Given the description of an element on the screen output the (x, y) to click on. 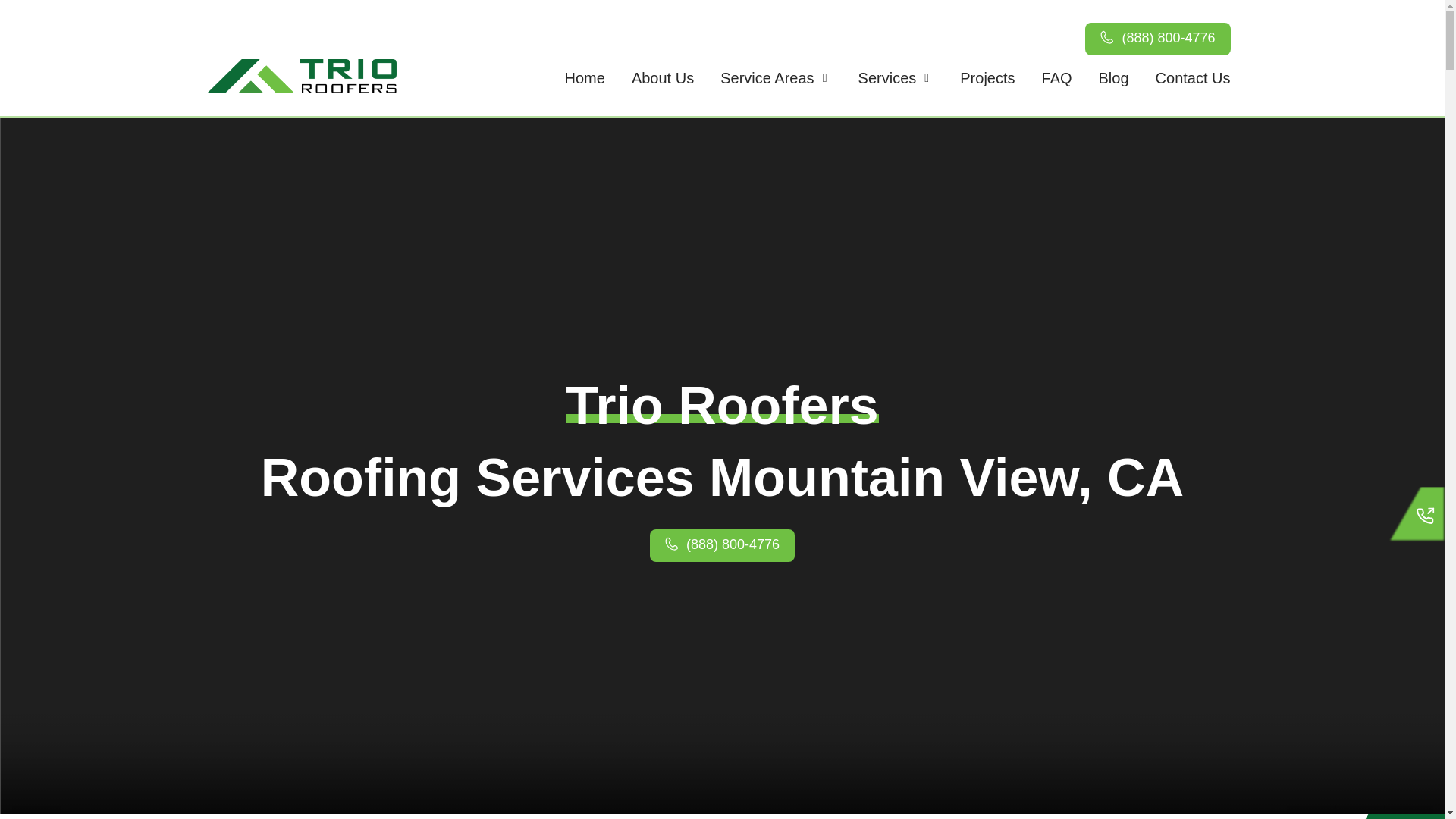
Services (888, 77)
About Us (662, 77)
Service Areas (766, 77)
Home (584, 77)
